Given the description of an element on the screen output the (x, y) to click on. 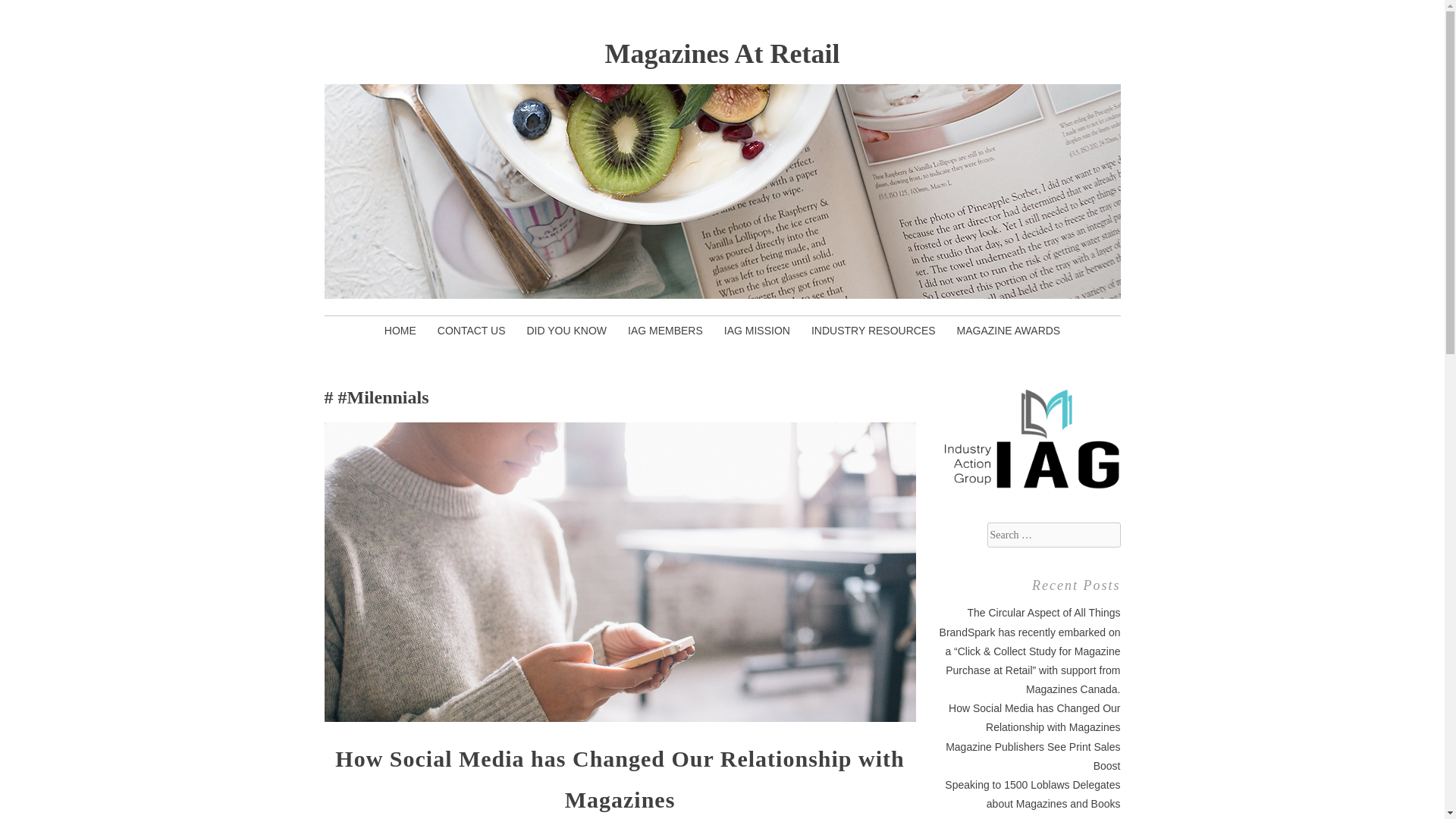
Search (26, 12)
IAG MEMBERS (665, 330)
INDUSTRY RESOURCES (873, 330)
MAGAZINE AWARDS (1008, 330)
CONTACT US (471, 330)
How Social Media has Changed Our Relationship with Magazines (1034, 717)
How Social Media has Changed Our Relationship with Magazines (619, 779)
The Circular Aspect of All Things (1042, 612)
DID YOU KNOW (566, 330)
